Given the description of an element on the screen output the (x, y) to click on. 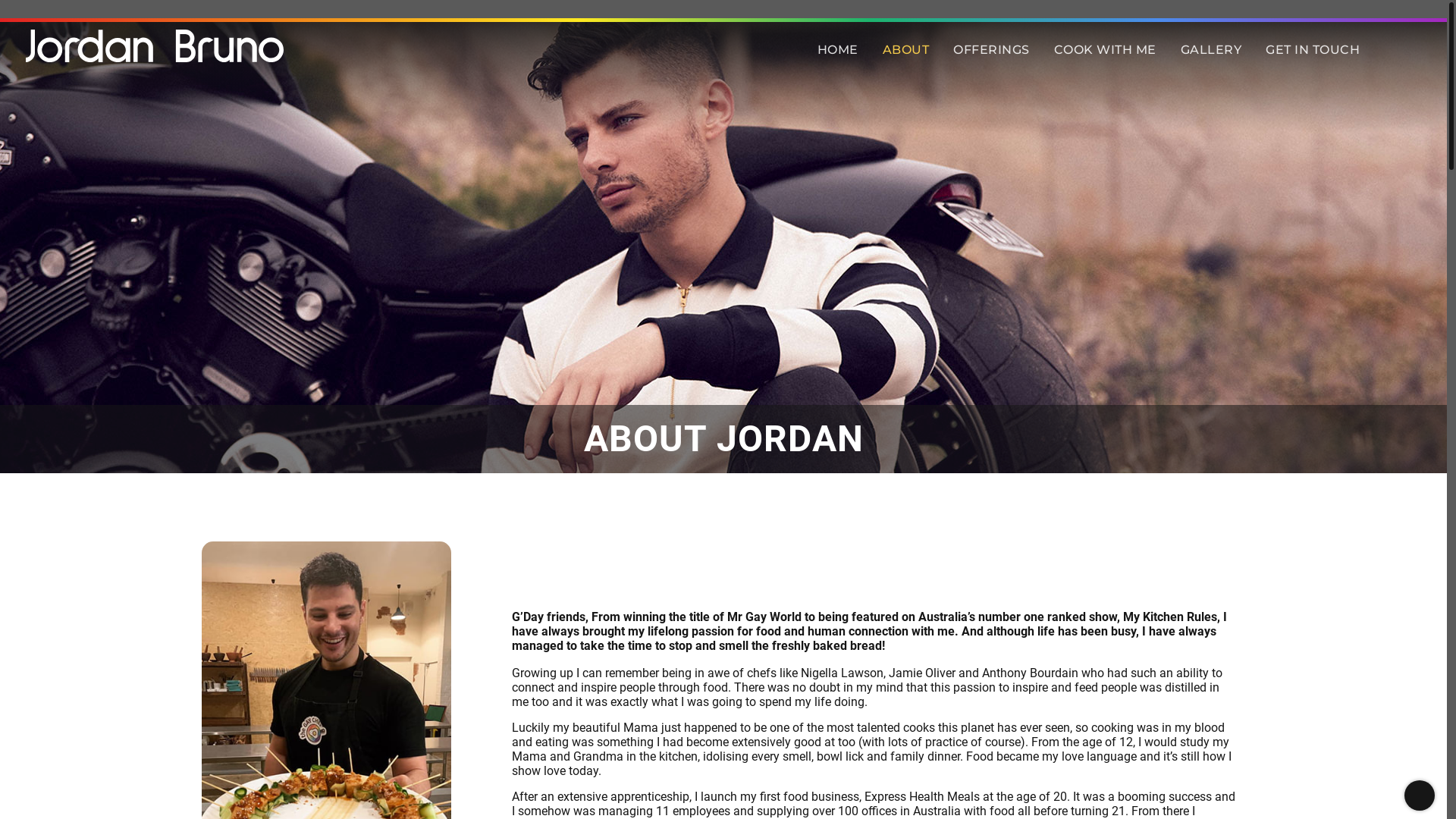
HOME Element type: text (837, 49)
OFFERINGS Element type: text (991, 49)
ABOUT Element type: text (905, 49)
GET IN TOUCH Element type: text (1312, 49)
COOK WITH ME Element type: text (1105, 49)
GALLERY Element type: text (1210, 49)
